Given the description of an element on the screen output the (x, y) to click on. 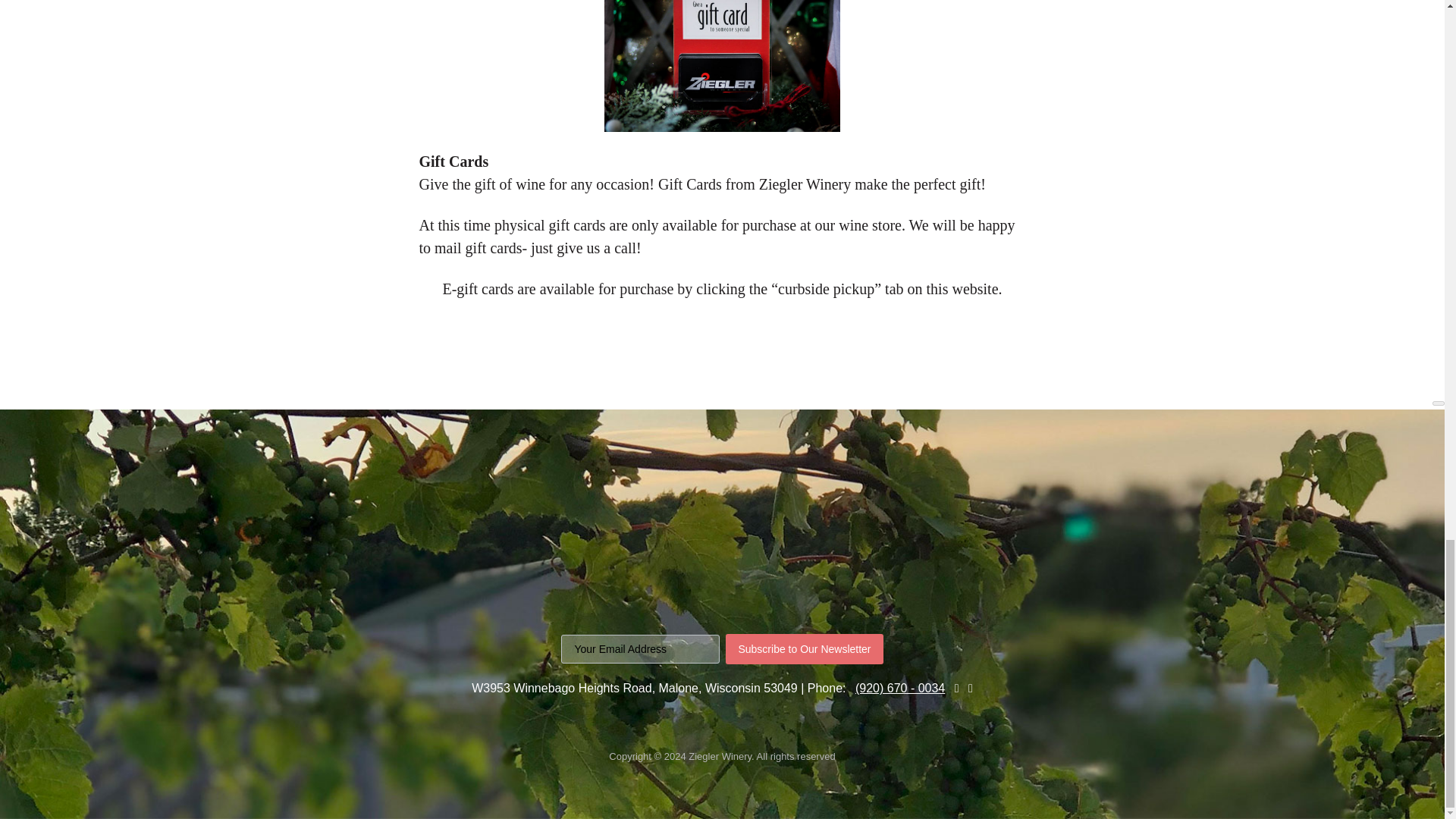
Subscribe to Our Newsletter (803, 648)
